Given the description of an element on the screen output the (x, y) to click on. 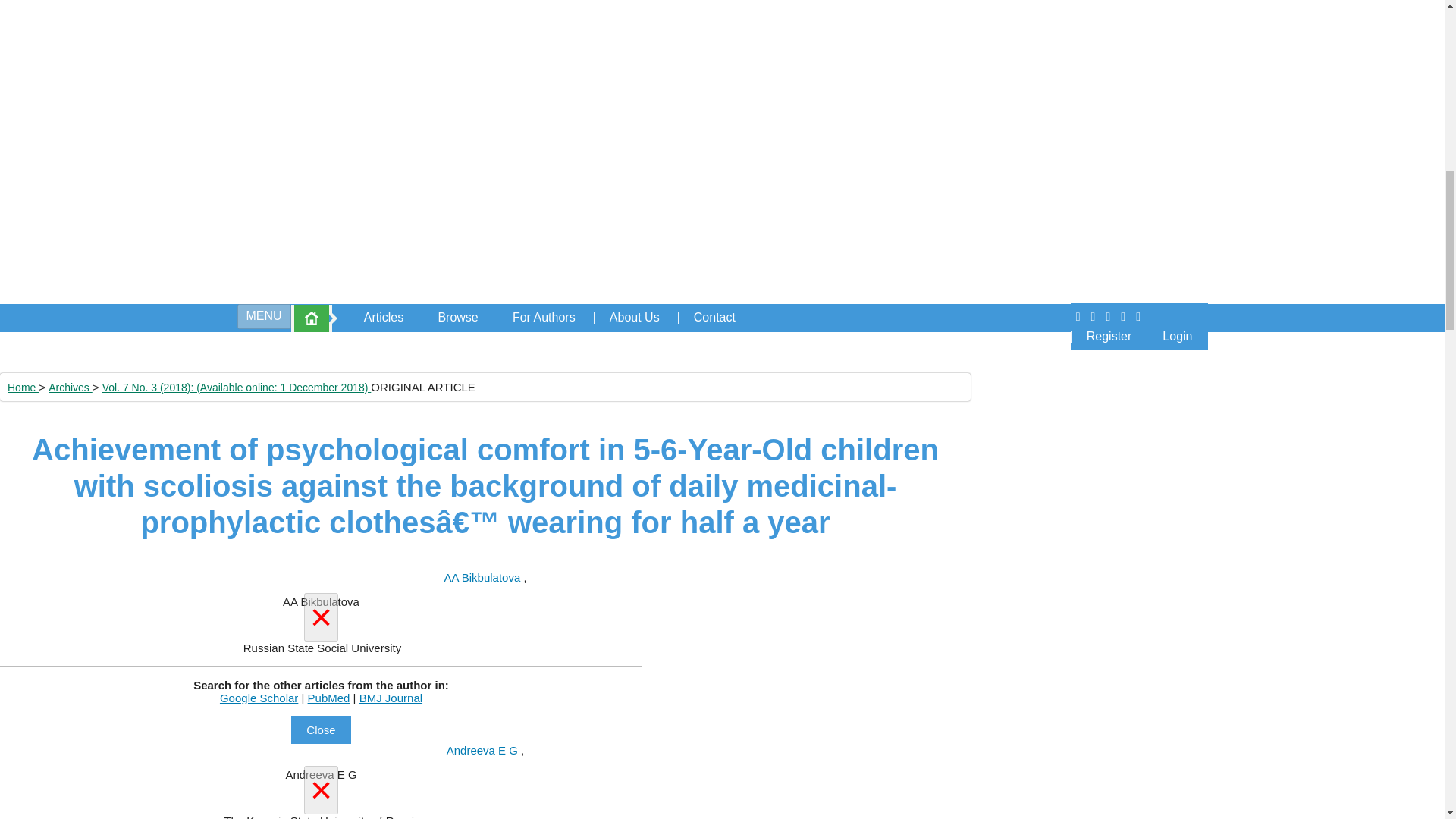
For Authors (543, 317)
Contact (714, 317)
Register (1108, 336)
Home (23, 387)
Articles (384, 317)
Login (1177, 336)
MENU (262, 316)
Browse (457, 317)
About Us (634, 317)
Home (311, 318)
